Given the description of an element on the screen output the (x, y) to click on. 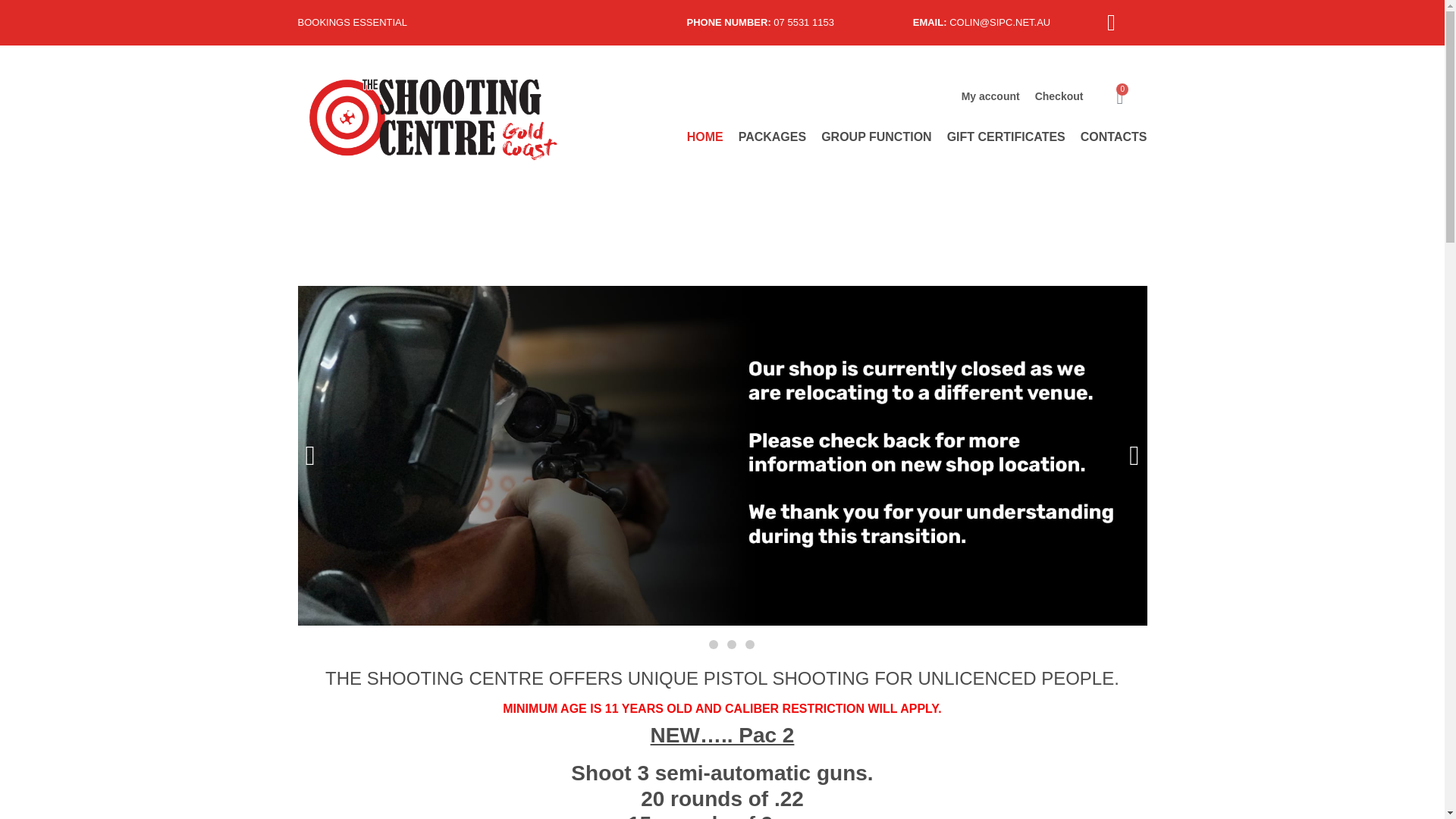
My account (990, 96)
GROUP FUNCTION (876, 136)
HOME (705, 136)
GIFT CERTIFICATES (1006, 136)
PACKAGES (772, 136)
Checkout (1059, 96)
0 (1119, 97)
07 5531 1153 (803, 21)
CONTACTS (1113, 136)
